Given the description of an element on the screen output the (x, y) to click on. 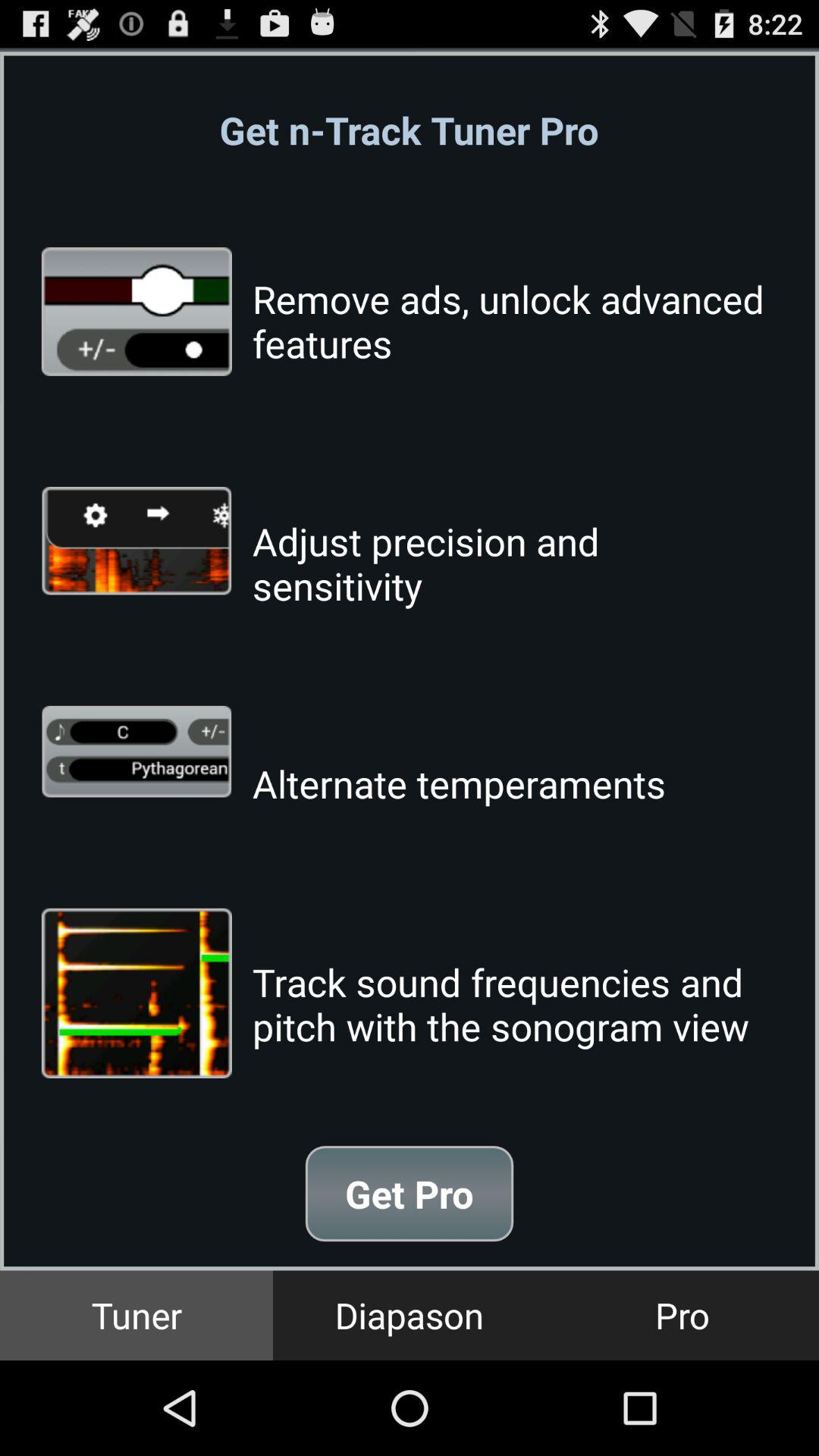
tap icon next to the tuner icon (409, 1315)
